Given the description of an element on the screen output the (x, y) to click on. 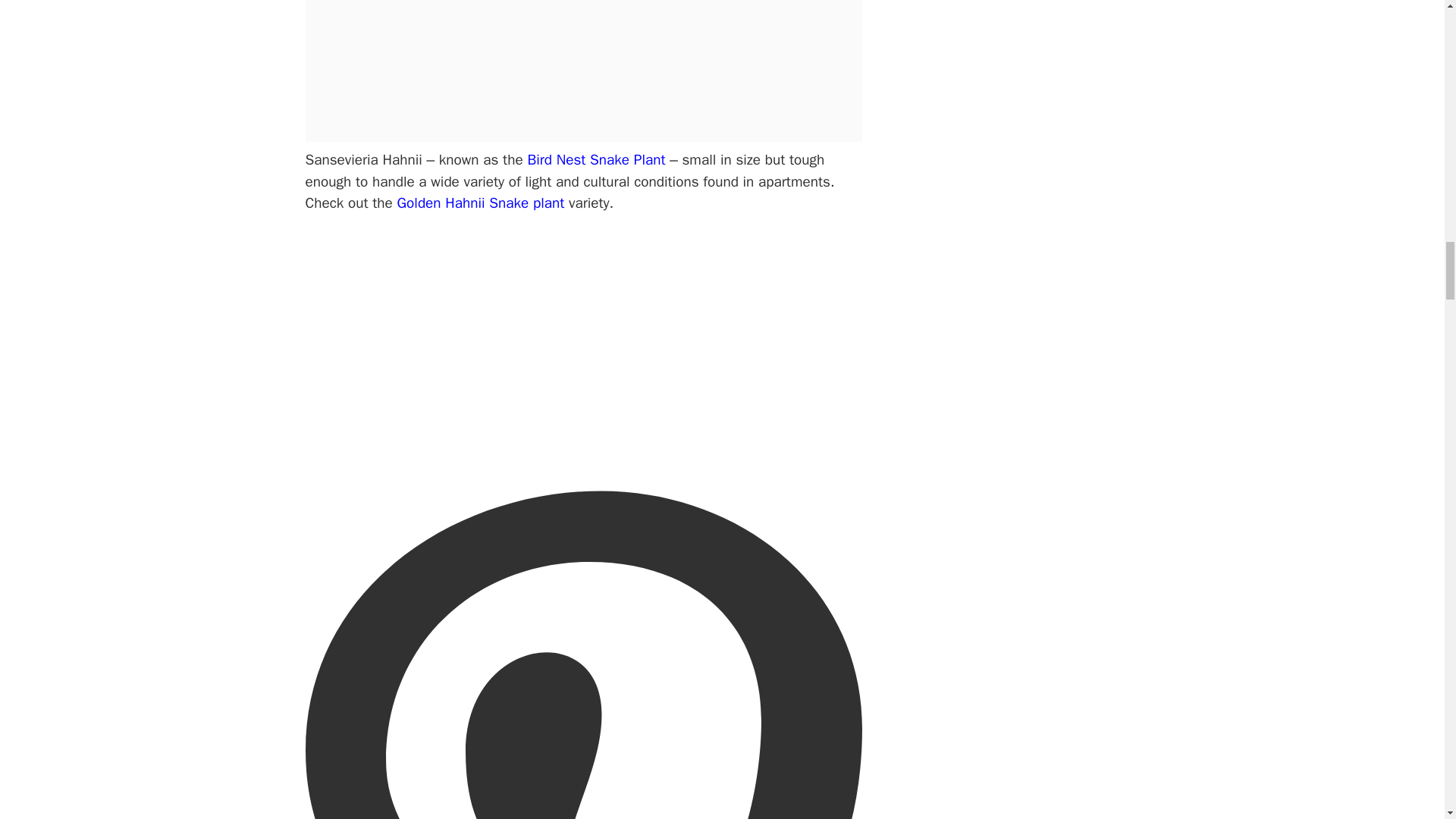
Golden Hahnii Snake plant (483, 203)
Bird Nest Snake Plant (596, 159)
